Given the description of an element on the screen output the (x, y) to click on. 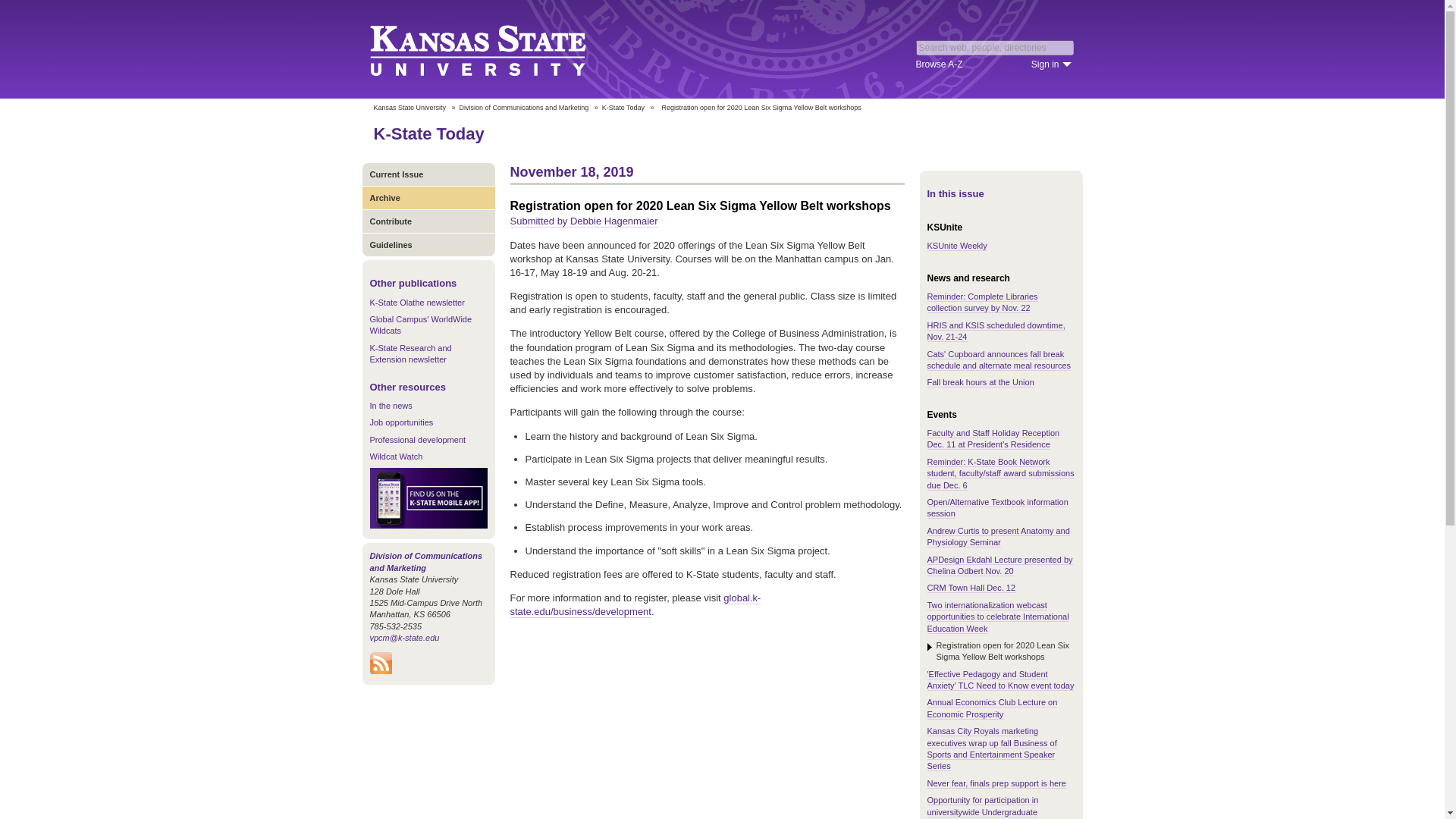
Kansas State University (496, 49)
Sign in (1050, 64)
Archive (428, 197)
